Given the description of an element on the screen output the (x, y) to click on. 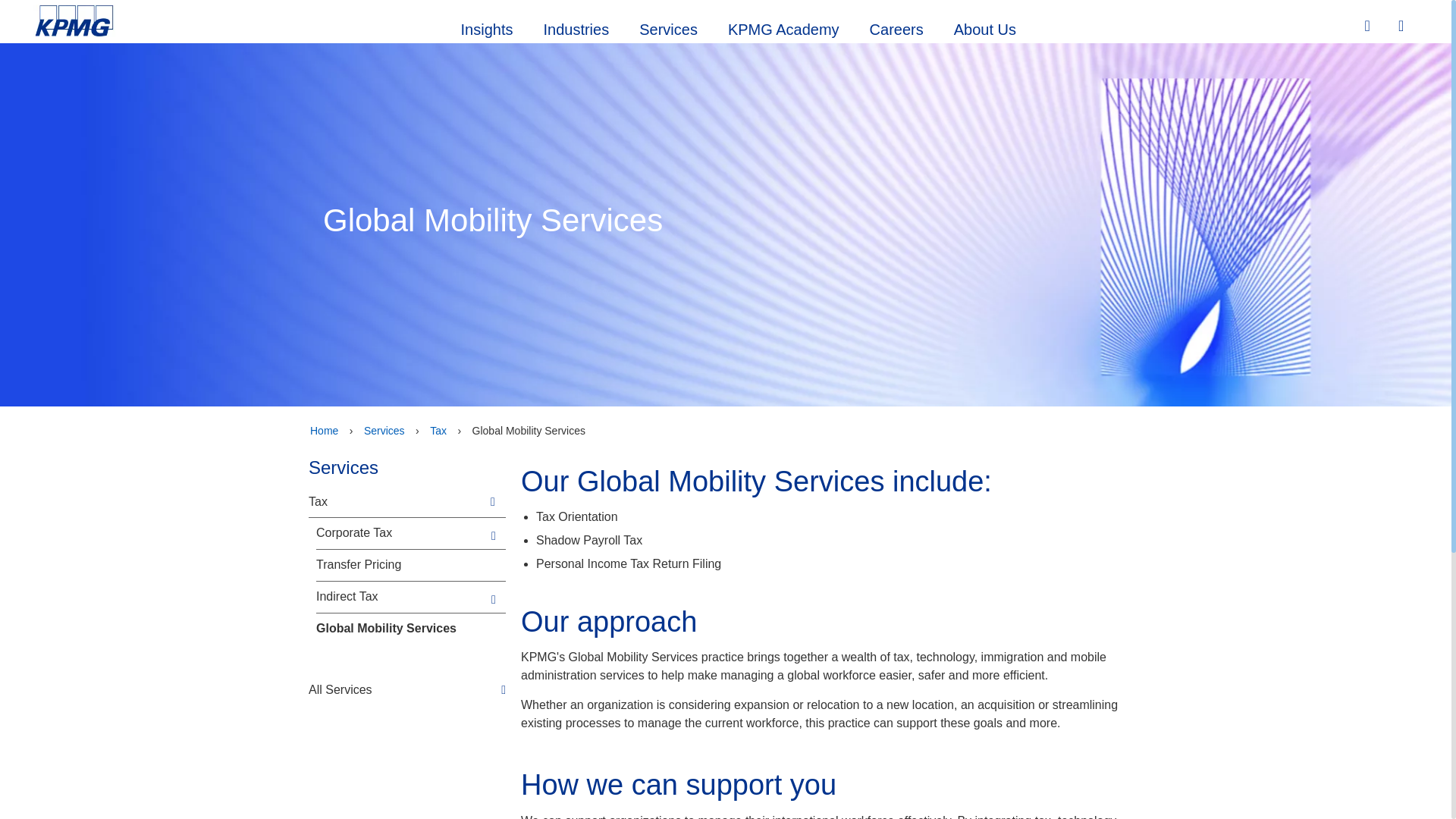
Careers (896, 27)
Tax (438, 430)
Industries (575, 27)
Services (668, 27)
Services (384, 430)
Corporate Tax (400, 533)
Site Selector (1402, 26)
Global Mobility Services (400, 628)
Home (323, 430)
Insights (486, 27)
Transfer Pricing (400, 565)
About Us (984, 27)
All Services (406, 689)
Tax (397, 502)
Indirect Tax (400, 596)
